Given the description of an element on the screen output the (x, y) to click on. 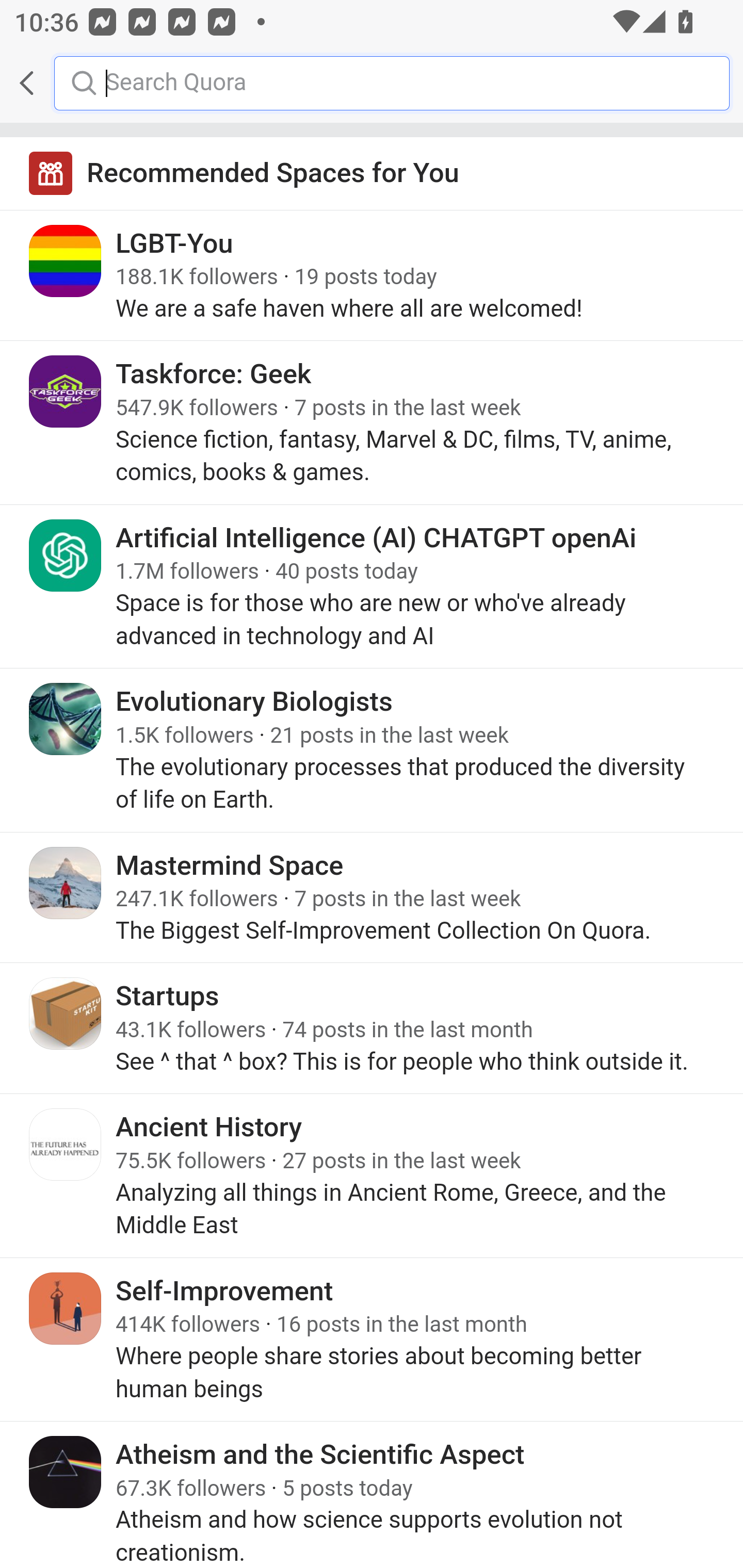
Me Home Search Add (371, 82)
Icon for LGBT-You (65, 260)
Icon for Taskforce: Geek (65, 391)
Icon for Evolutionary Biologists (65, 718)
Icon for Mastermind Space (65, 882)
Icon for Startups (65, 1013)
Icon for Ancient History (65, 1145)
Icon for Self-Improvement (65, 1308)
Icon for Atheism and the Scientific Aspect (65, 1471)
